Given the description of an element on the screen output the (x, y) to click on. 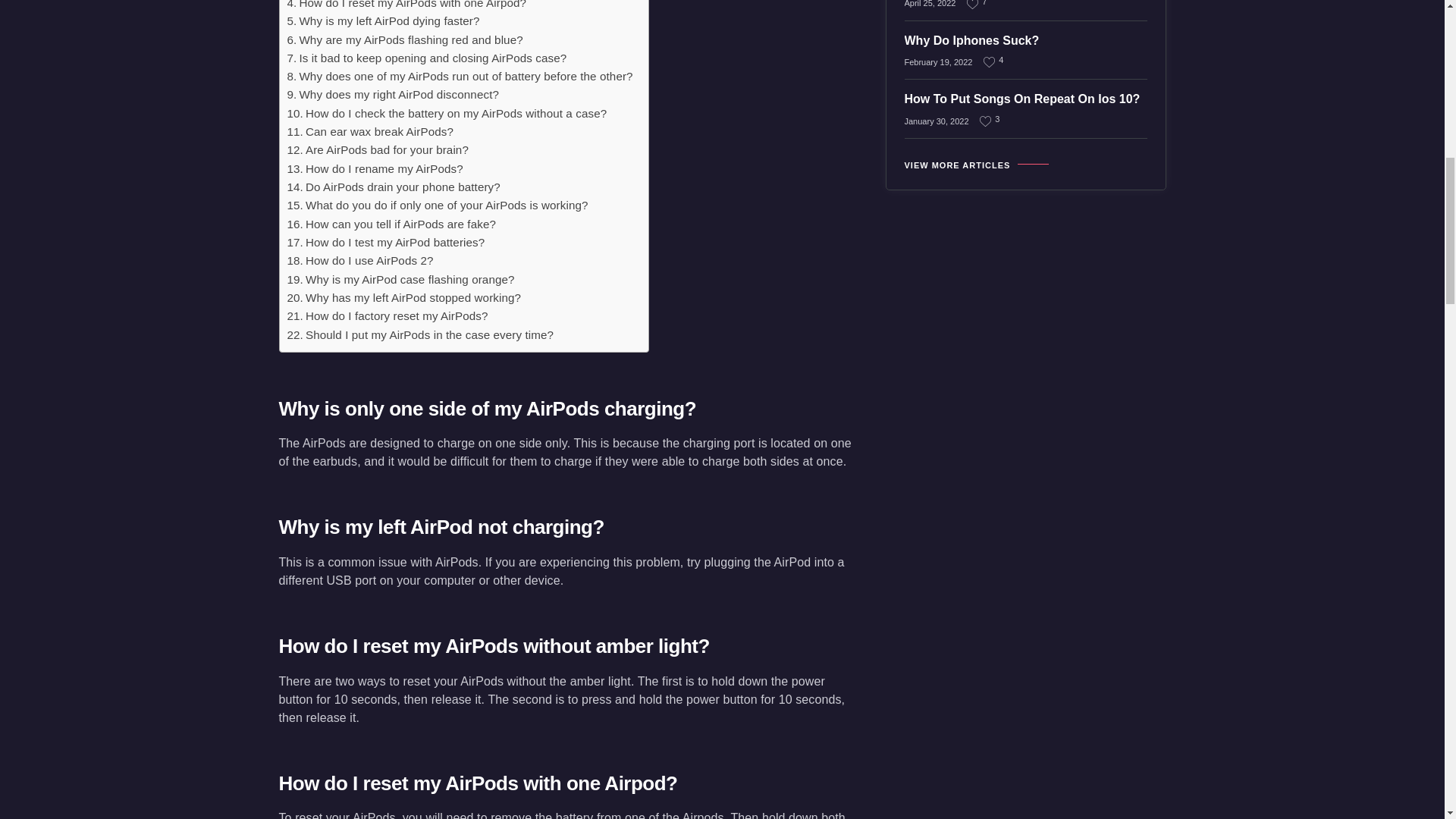
Why are my AirPods flashing red and blue? (404, 39)
Why is my left AirPod dying faster? (382, 21)
Can ear wax break AirPods? (369, 131)
How do I check the battery on my AirPods without a case? (446, 113)
How do I reset my AirPods with one Airpod? (405, 6)
Why does my right AirPod disconnect? (392, 94)
Is it bad to keep opening and closing AirPods case? (426, 58)
Are AirPods bad for your brain? (376, 149)
